Given the description of an element on the screen output the (x, y) to click on. 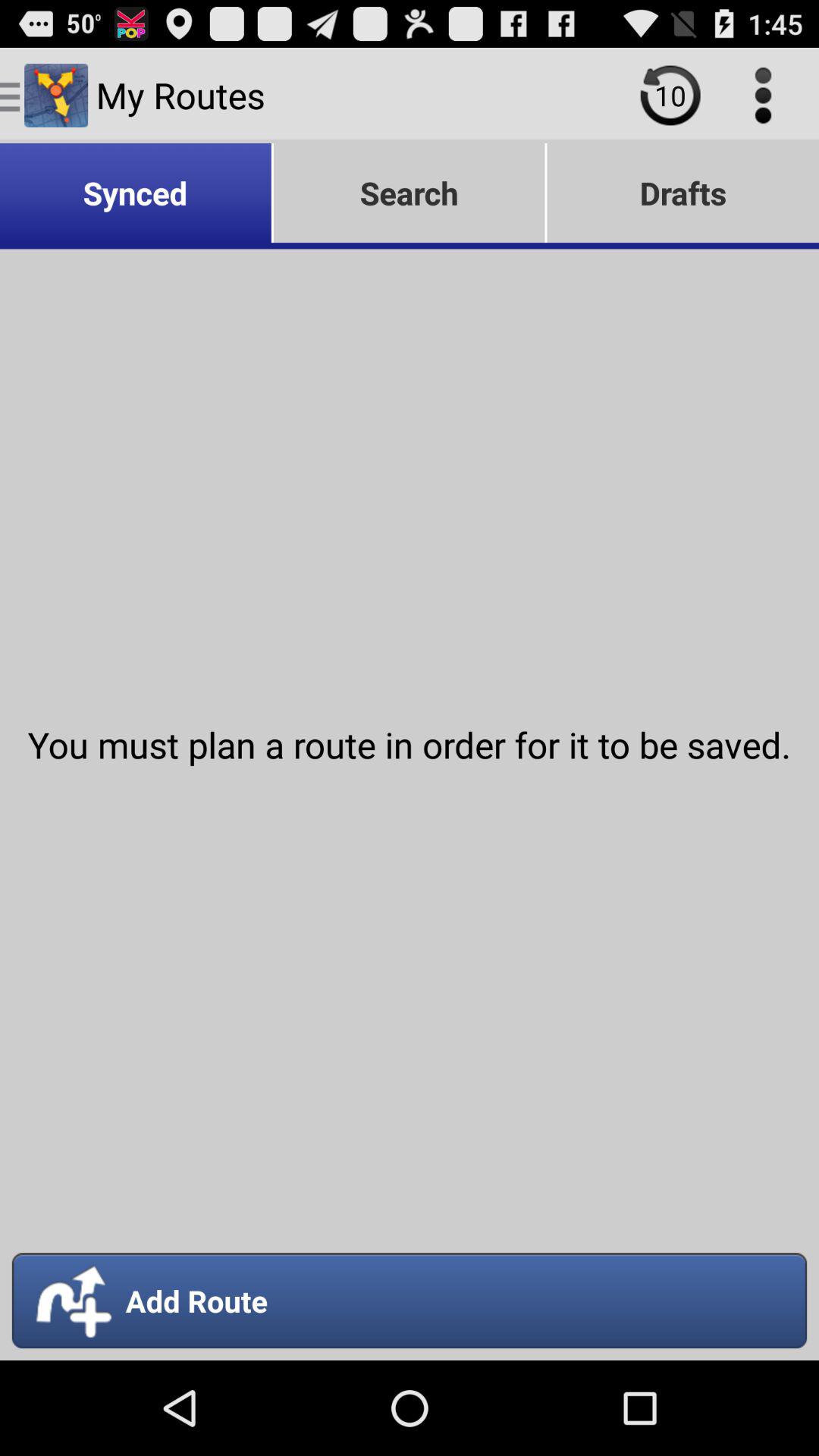
history (670, 95)
